Given the description of an element on the screen output the (x, y) to click on. 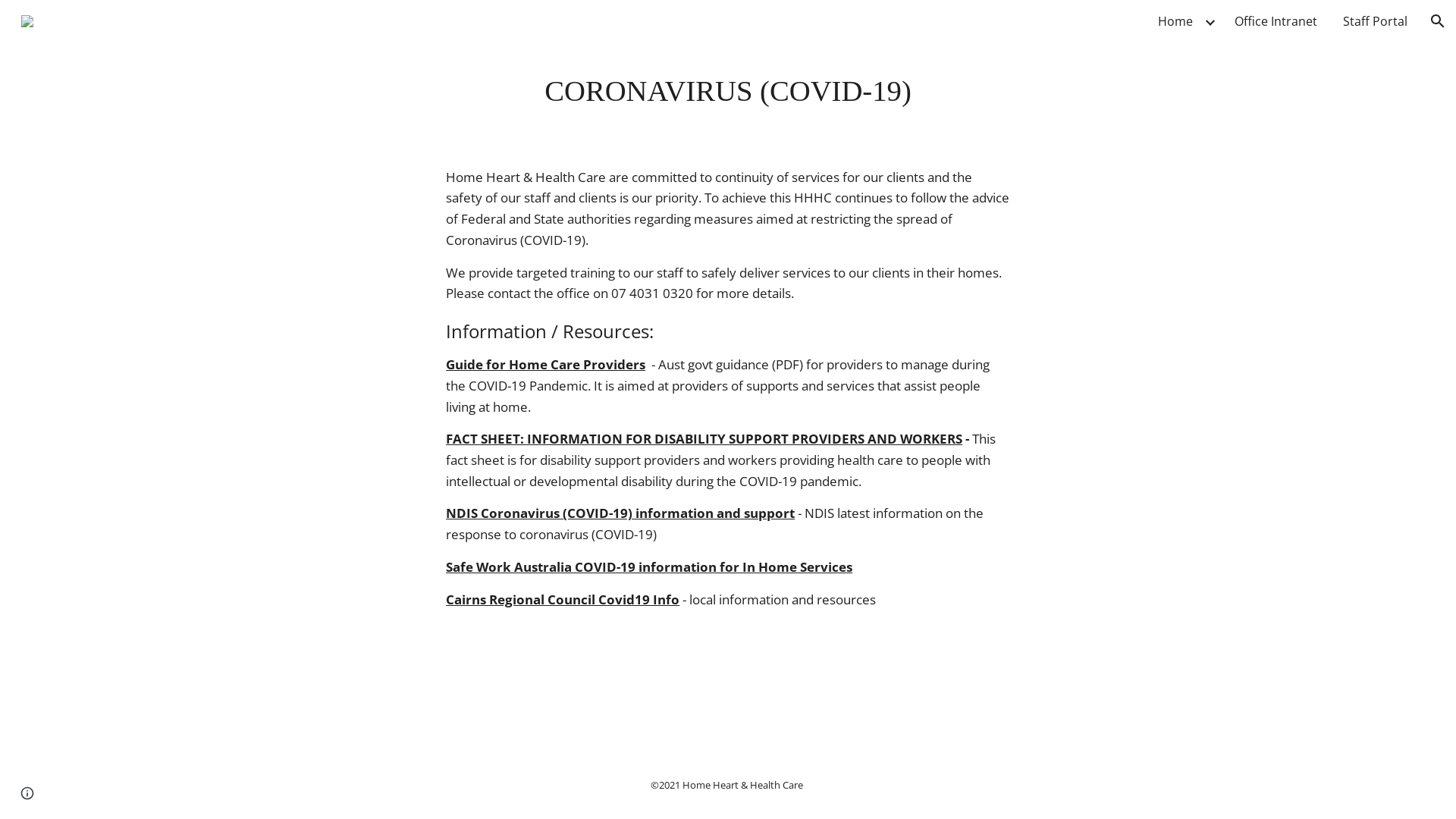
Office Intranet Element type: text (1275, 20)
Staff Portal Element type: text (1375, 20)
NDIS Coronavirus (COVID-19) information and support Element type: text (619, 512)
Home Element type: text (1175, 20)
Guide for Home Care Providers Element type: text (545, 363)
Expand/Collapse Element type: hover (1209, 20)
Cairns Regional Council Covid19 Info Element type: text (562, 598)
